Given the description of an element on the screen output the (x, y) to click on. 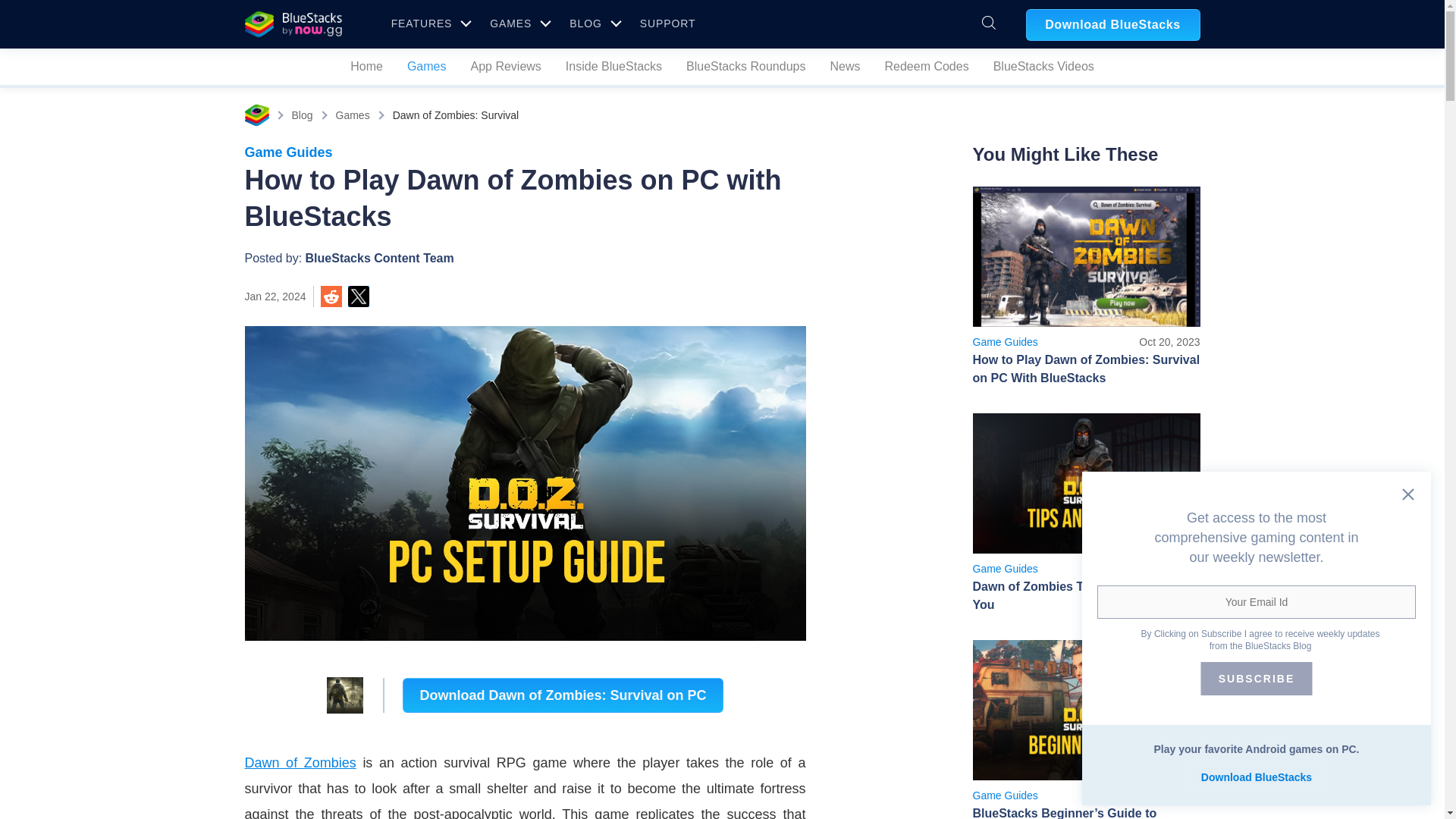
BLOG (592, 22)
FEATURES (429, 22)
GAMES (721, 115)
